Given the description of an element on the screen output the (x, y) to click on. 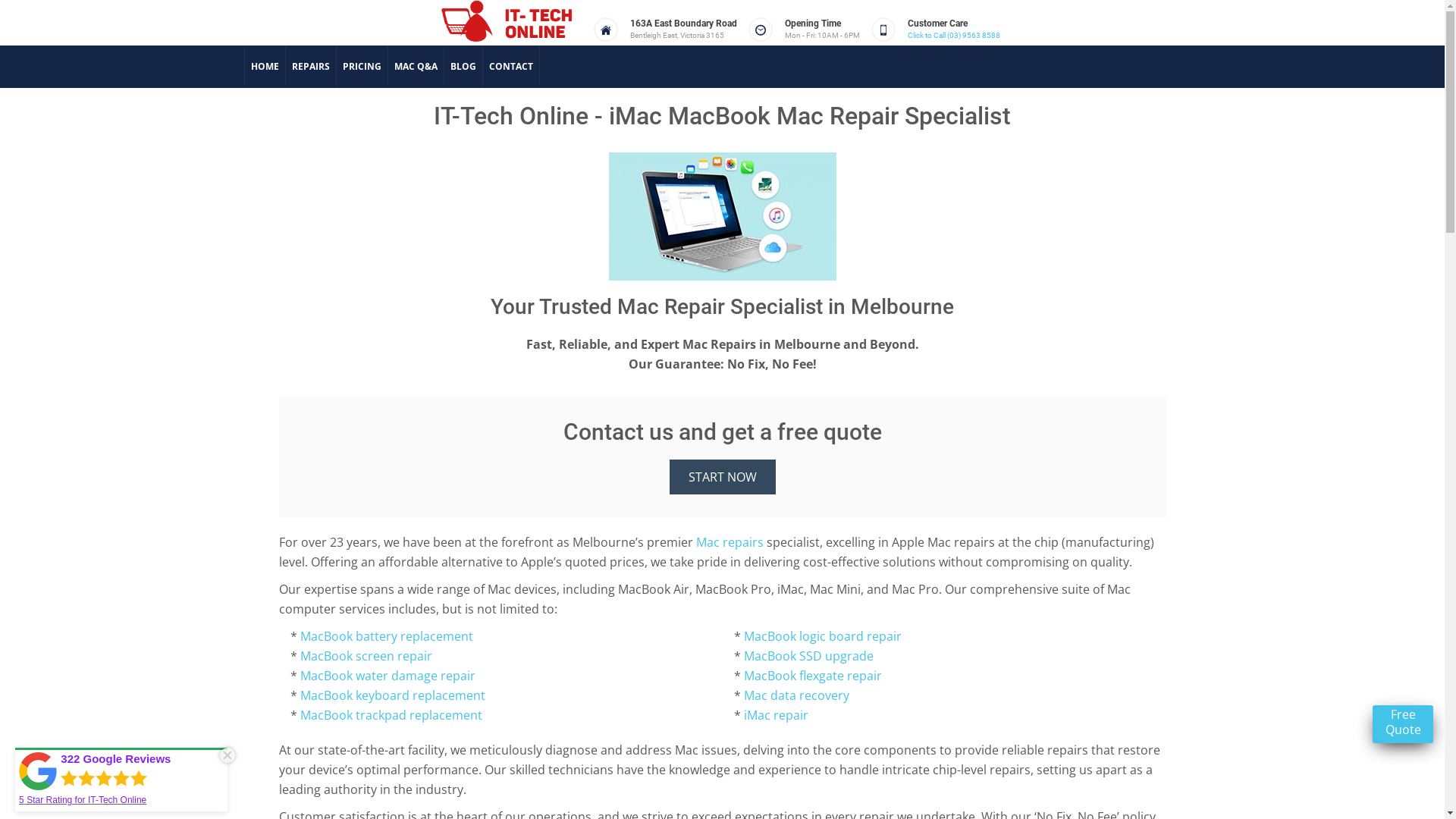
Mac repairs Element type: text (729, 541)
HOME Element type: text (264, 66)
MacBook SSD upgrade Element type: text (807, 655)
MacBook water damage repair Element type: text (387, 675)
 Star Rating for IT-Tech Online Element type: text (85, 799)
START NOW Element type: text (721, 476)
CONTACT Element type: text (511, 66)
BLOG Element type: text (463, 66)
MacBook screen repair Element type: text (364, 655)
5 Element type: text (21, 799)
MAC Q&A Element type: text (415, 66)
REPAIRS Element type: text (310, 66)
Free
Quote Element type: text (1402, 724)
PRICING Element type: text (361, 66)
MacBook logic board repair Element type: text (821, 635)
MacBook trackpad replacement Element type: text (391, 714)
MacBook battery replacement Element type: text (386, 635)
Click to Call (03) 9563 8588 Element type: text (952, 35)
MacBook flexgate repair Element type: text (812, 675)
Mac data recovery Element type: text (795, 695)
iMac repair Element type: text (775, 714)
MacBook keyboard replacement Element type: text (392, 695)
